Given the description of an element on the screen output the (x, y) to click on. 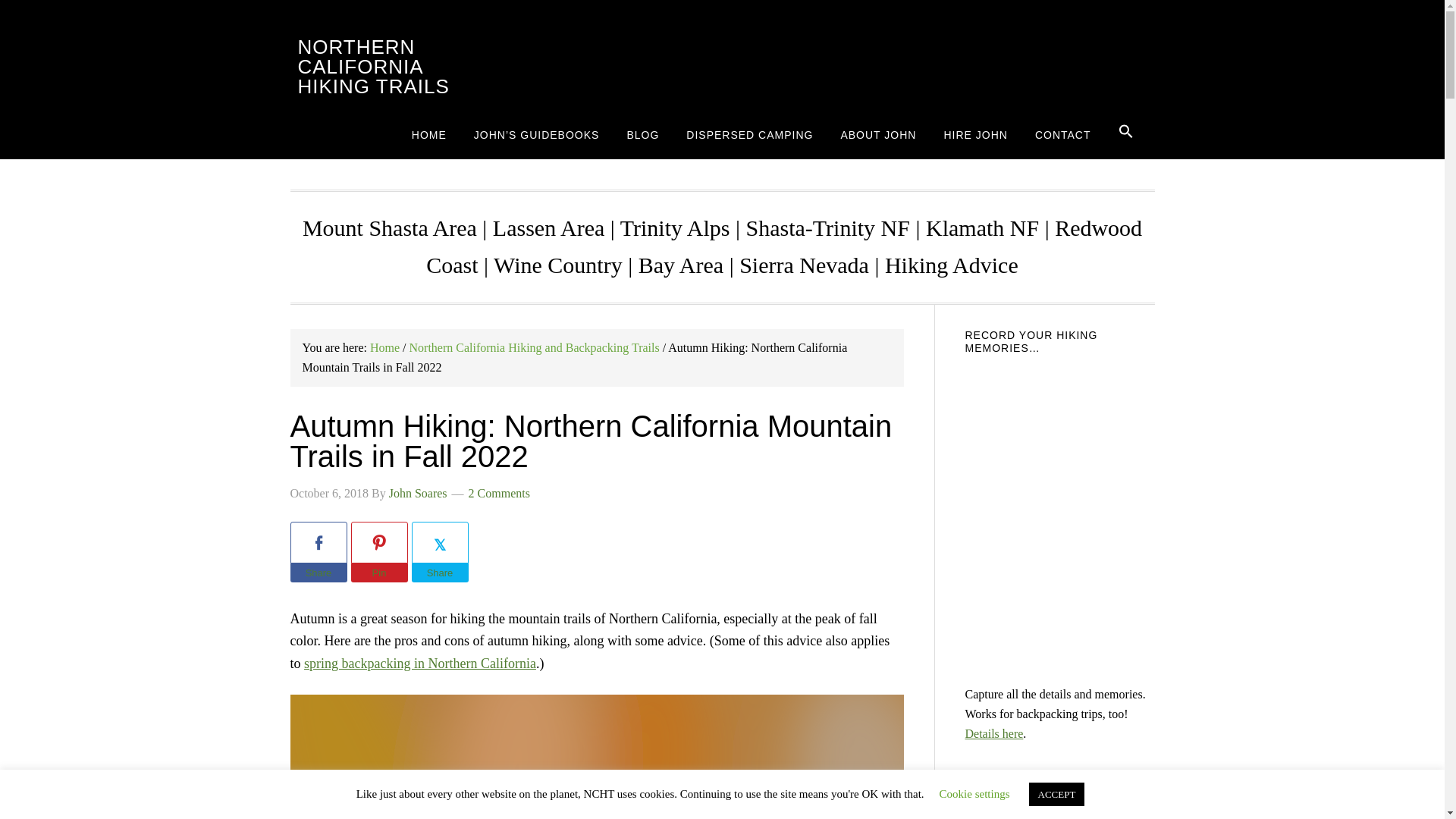
NORTHERN CALIFORNIA HIKING TRAILS (372, 66)
2 Comments (498, 492)
BLOG (642, 133)
Share (317, 572)
CONTACT (1063, 133)
spring backpacking in Northern California (419, 662)
HIRE JOHN (975, 133)
Share (438, 572)
Pin (378, 572)
John Soares (417, 492)
